Given the description of an element on the screen output the (x, y) to click on. 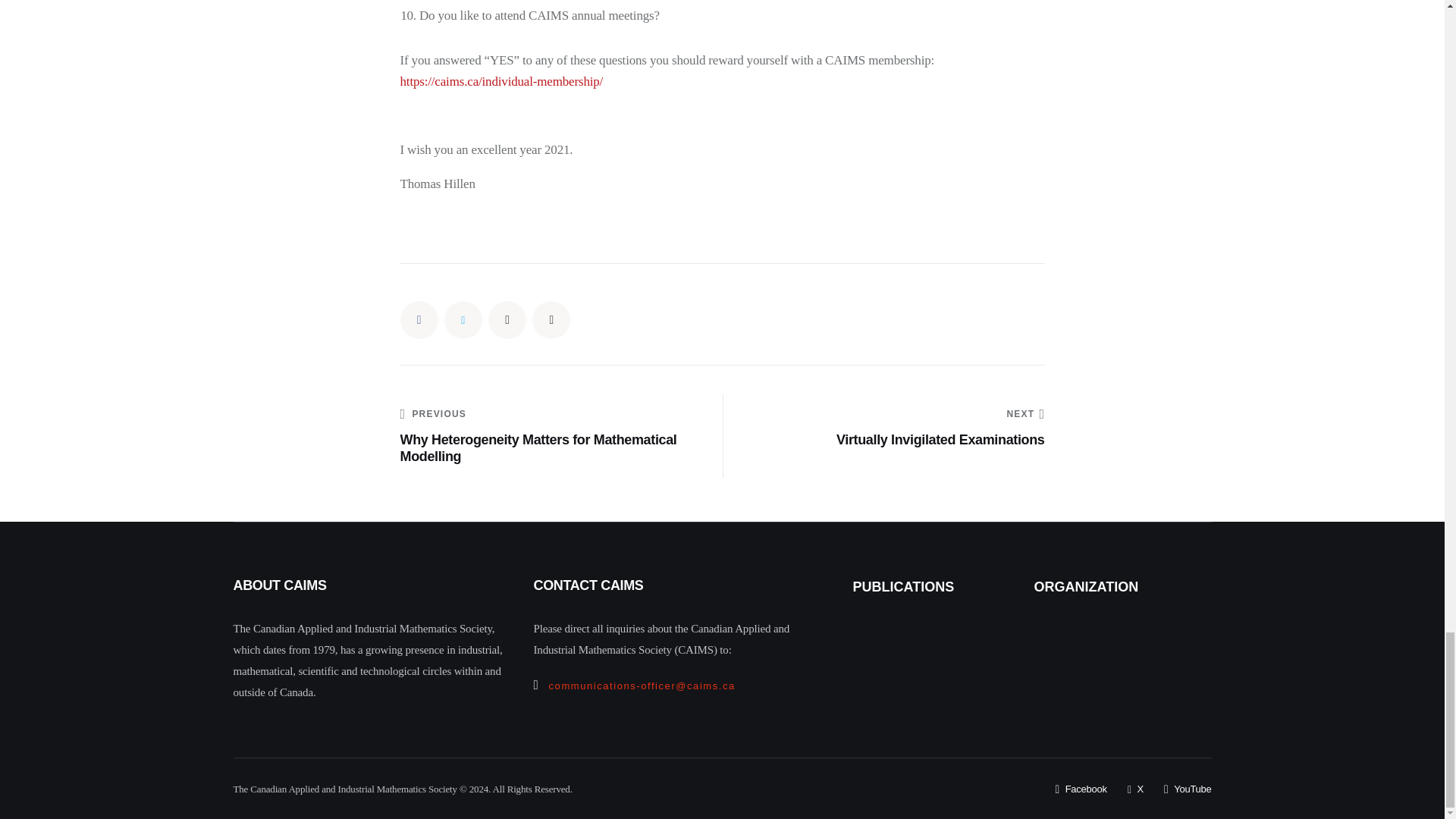
Copy URL to clipboard (551, 320)
